Given the description of an element on the screen output the (x, y) to click on. 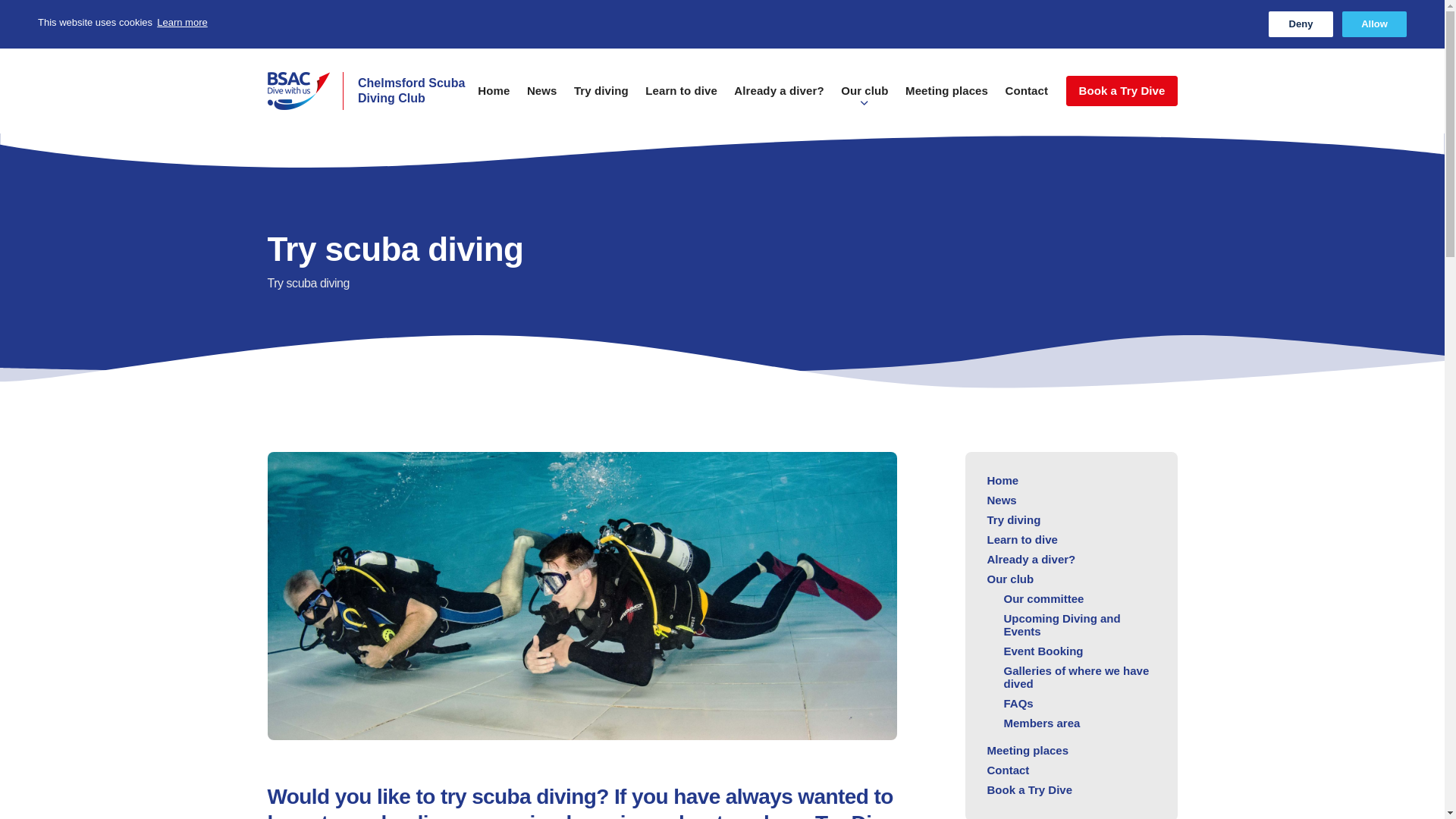
Home (493, 98)
Try diving (600, 98)
Our club (864, 98)
Allow (1374, 23)
Deny (1300, 23)
Book a Try Dive (1120, 91)
News (542, 98)
Learn more (182, 22)
Contact (1026, 98)
Meeting places (946, 98)
Already a diver? (778, 98)
Learn to dive (681, 98)
Home (368, 90)
